Given the description of an element on the screen output the (x, y) to click on. 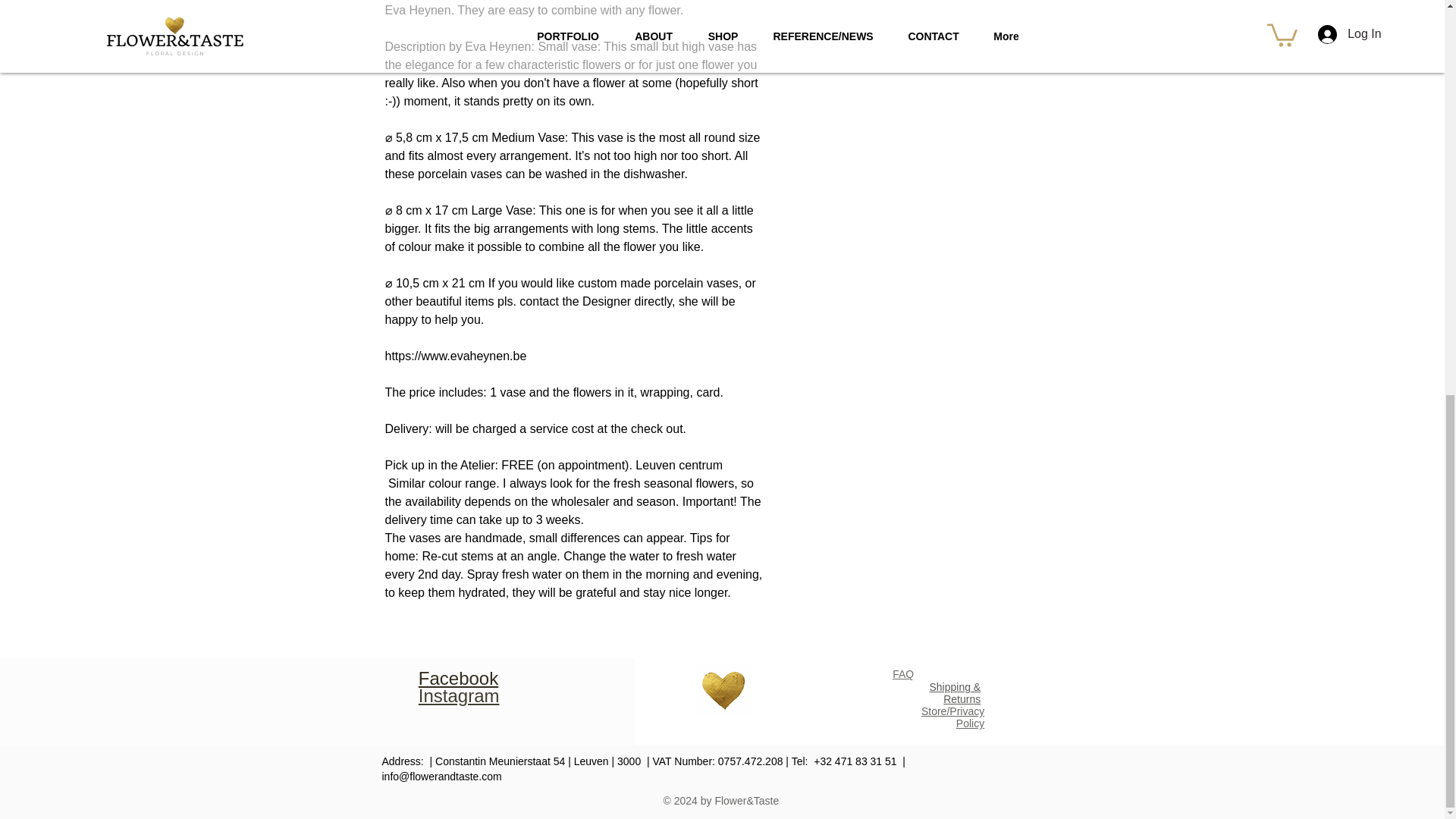
FAQ (903, 674)
Facebook (458, 678)
Instagram (459, 695)
